Given the description of an element on the screen output the (x, y) to click on. 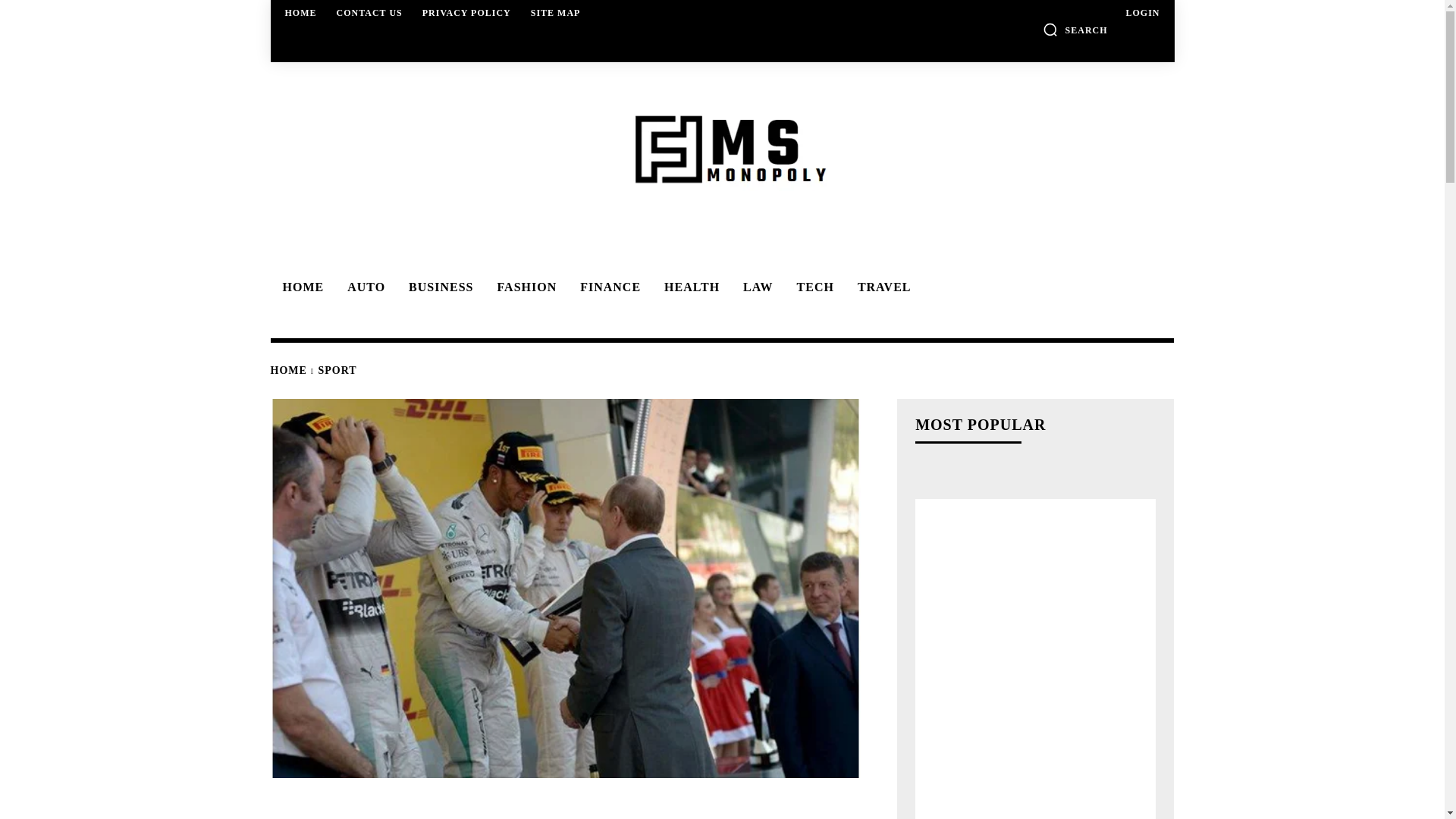
SEARCH (1075, 29)
SITE MAP (555, 12)
HOME (300, 287)
FINANCE (607, 287)
FASHION (524, 287)
HEALTH (689, 287)
LOGIN (1141, 12)
TRAVEL (881, 287)
PRIVACY POLICY (466, 12)
HOME (301, 12)
